Given the description of an element on the screen output the (x, y) to click on. 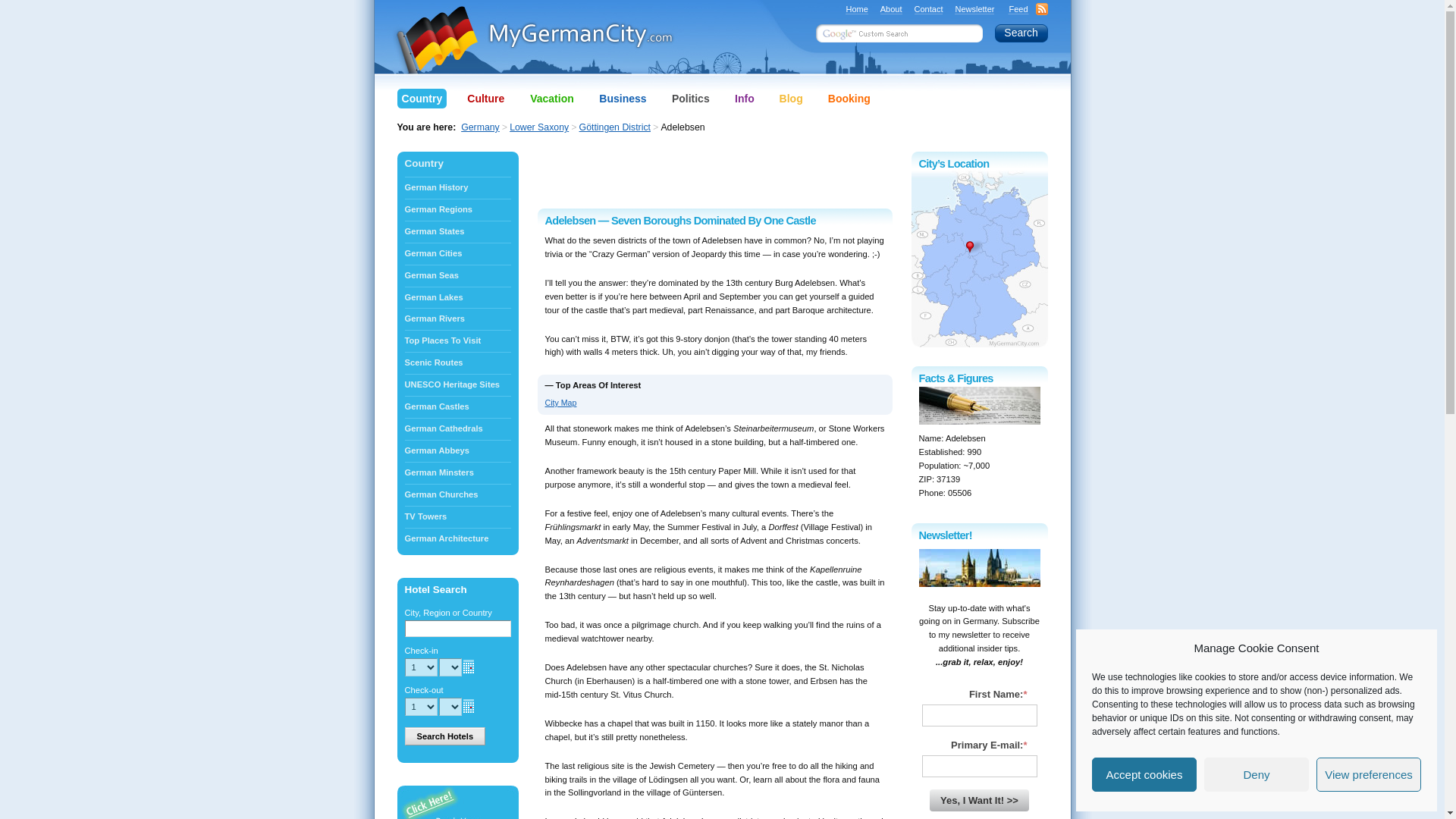
Search Hotels (445, 736)
Search (1021, 33)
German History (457, 187)
German Regions (457, 209)
German Architecture (457, 538)
German Lakes (457, 297)
Scenic Routes (457, 362)
Country (457, 163)
German History (457, 187)
German Castles (457, 406)
Top Places To Visit (457, 341)
German Rivers (457, 318)
Accept cookies (1144, 774)
German Seas (457, 275)
German Minsters (457, 472)
